Given the description of an element on the screen output the (x, y) to click on. 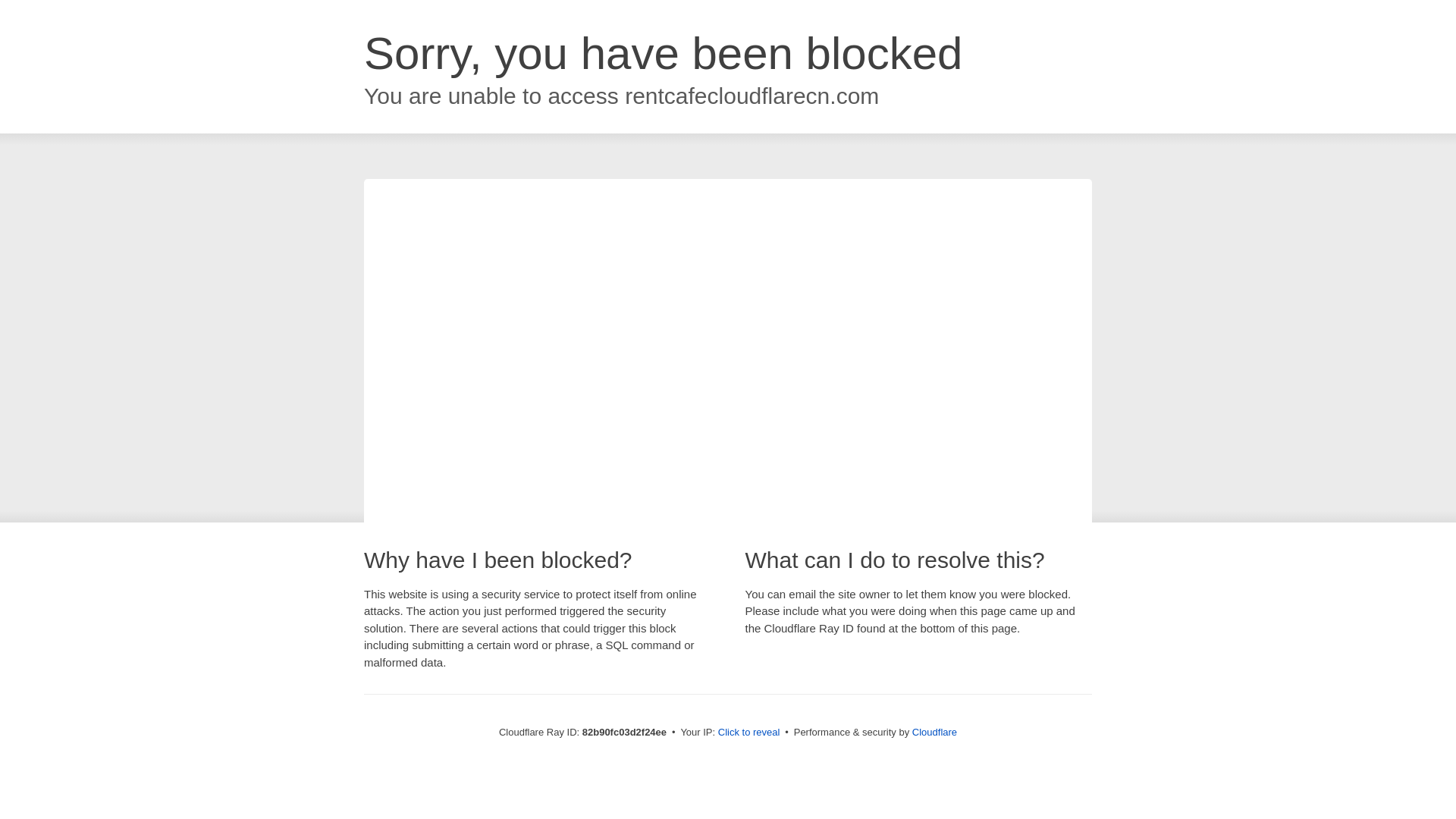
Click to reveal Element type: text (749, 732)
Cloudflare Element type: text (934, 731)
